Given the description of an element on the screen output the (x, y) to click on. 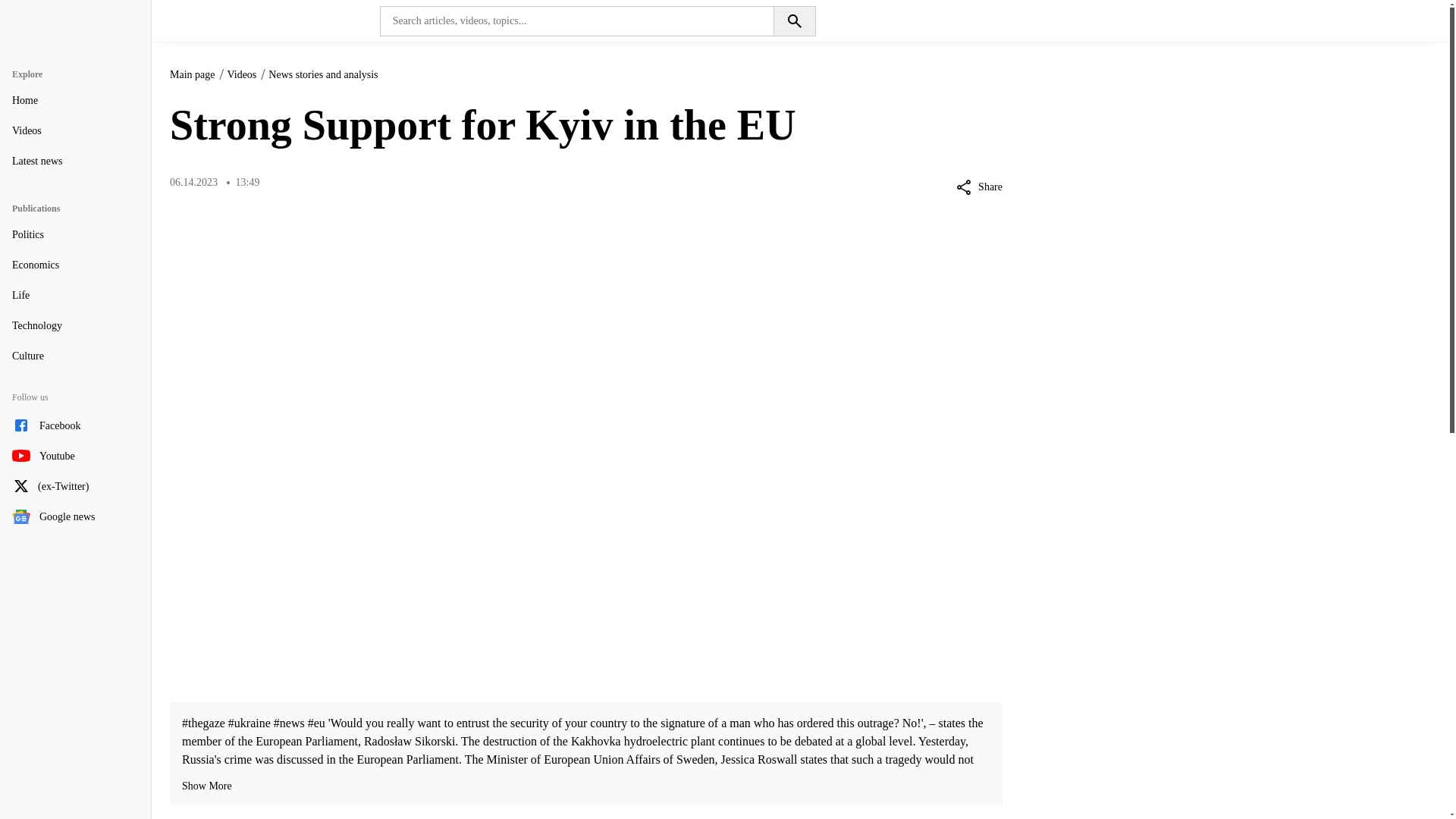
Search on the site (794, 20)
Life (74, 295)
Google news (74, 516)
Technology (74, 326)
Videos (241, 74)
Culture (74, 356)
Main page (192, 74)
News stories and analysis (322, 74)
Videos (74, 131)
